Given the description of an element on the screen output the (x, y) to click on. 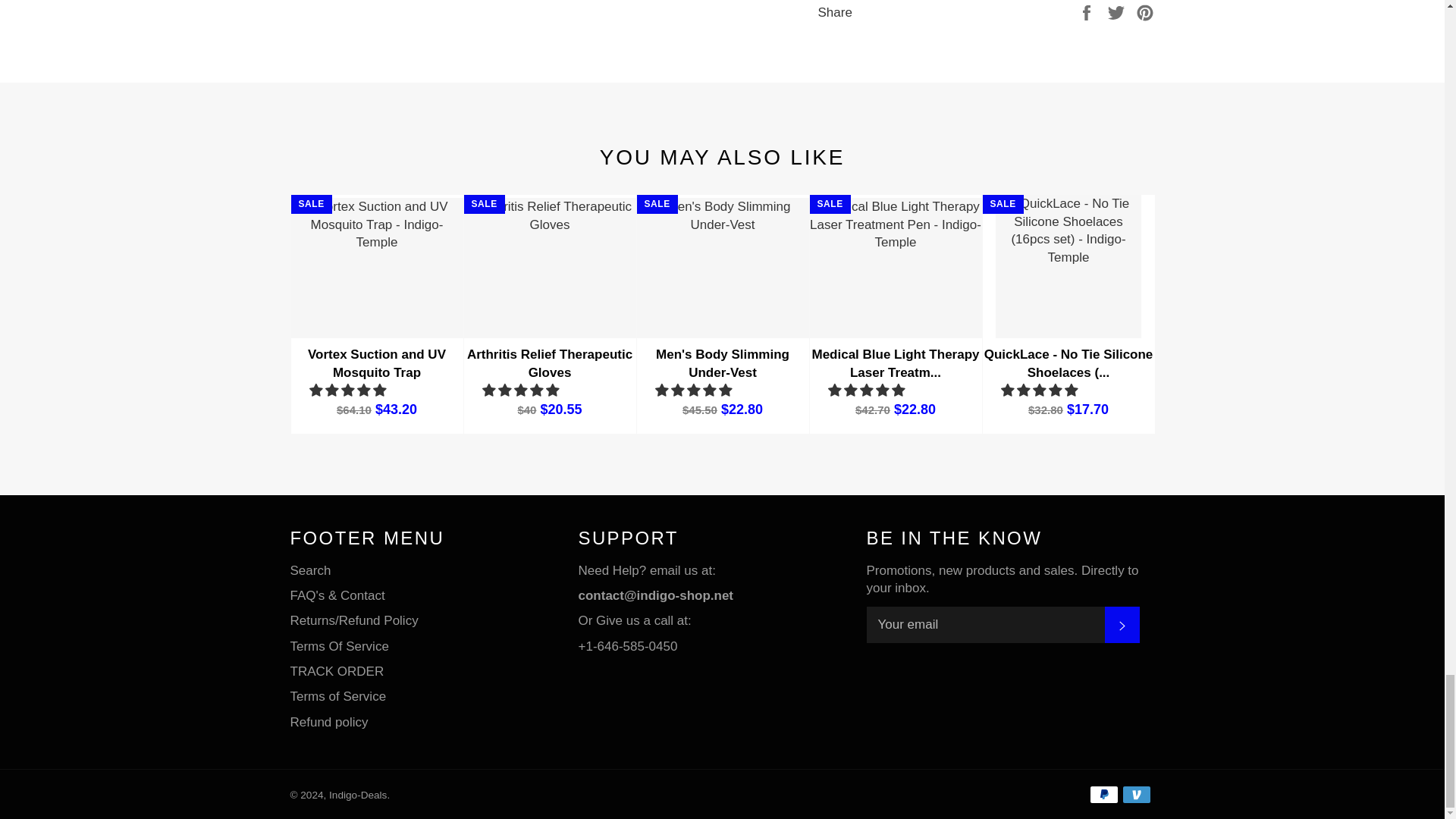
Pin on Pinterest (1144, 11)
Share on Facebook (1088, 11)
Tweet on Twitter (1117, 11)
